Given the description of an element on the screen output the (x, y) to click on. 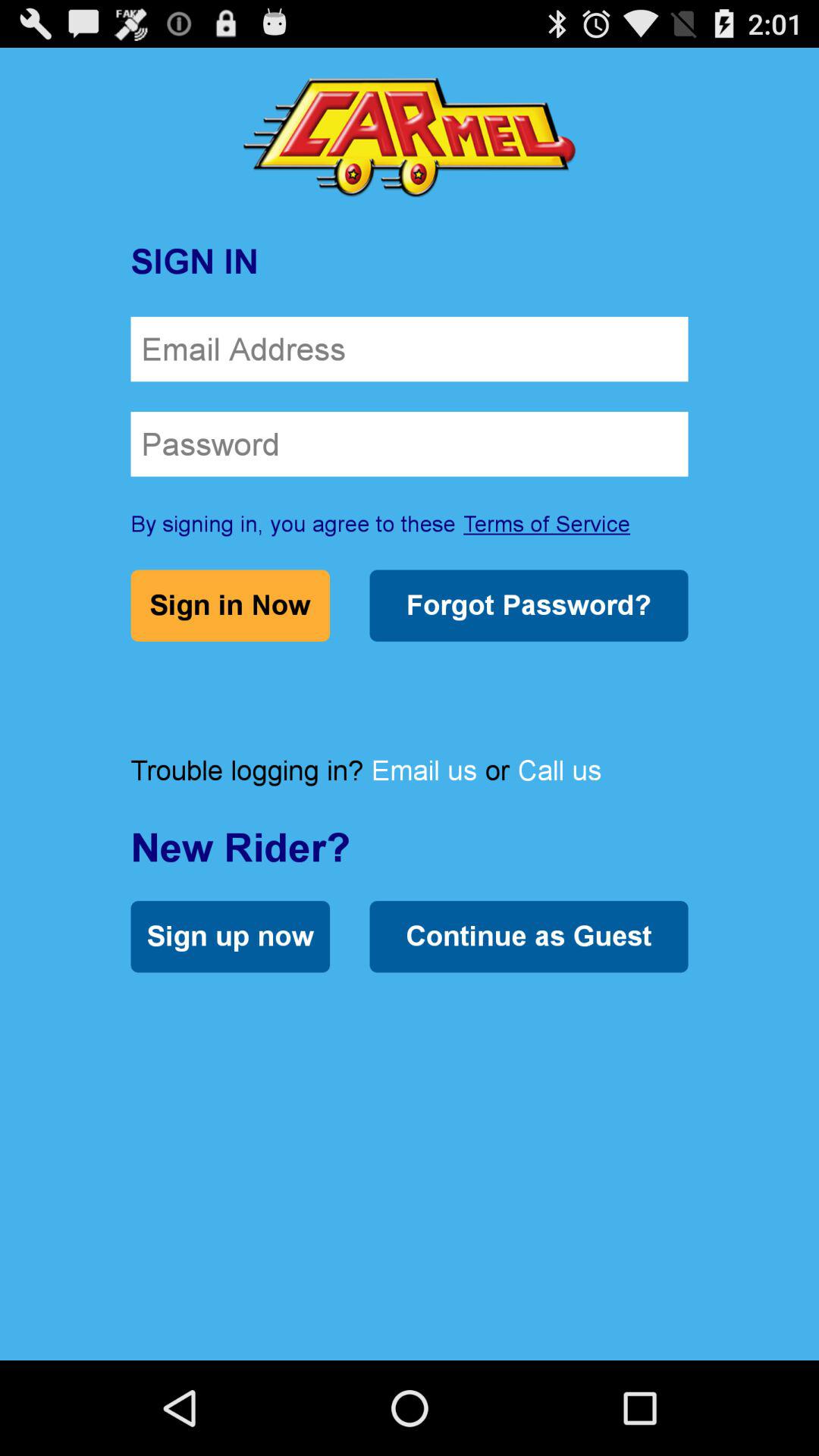
select terms of service icon (546, 523)
